Given the description of an element on the screen output the (x, y) to click on. 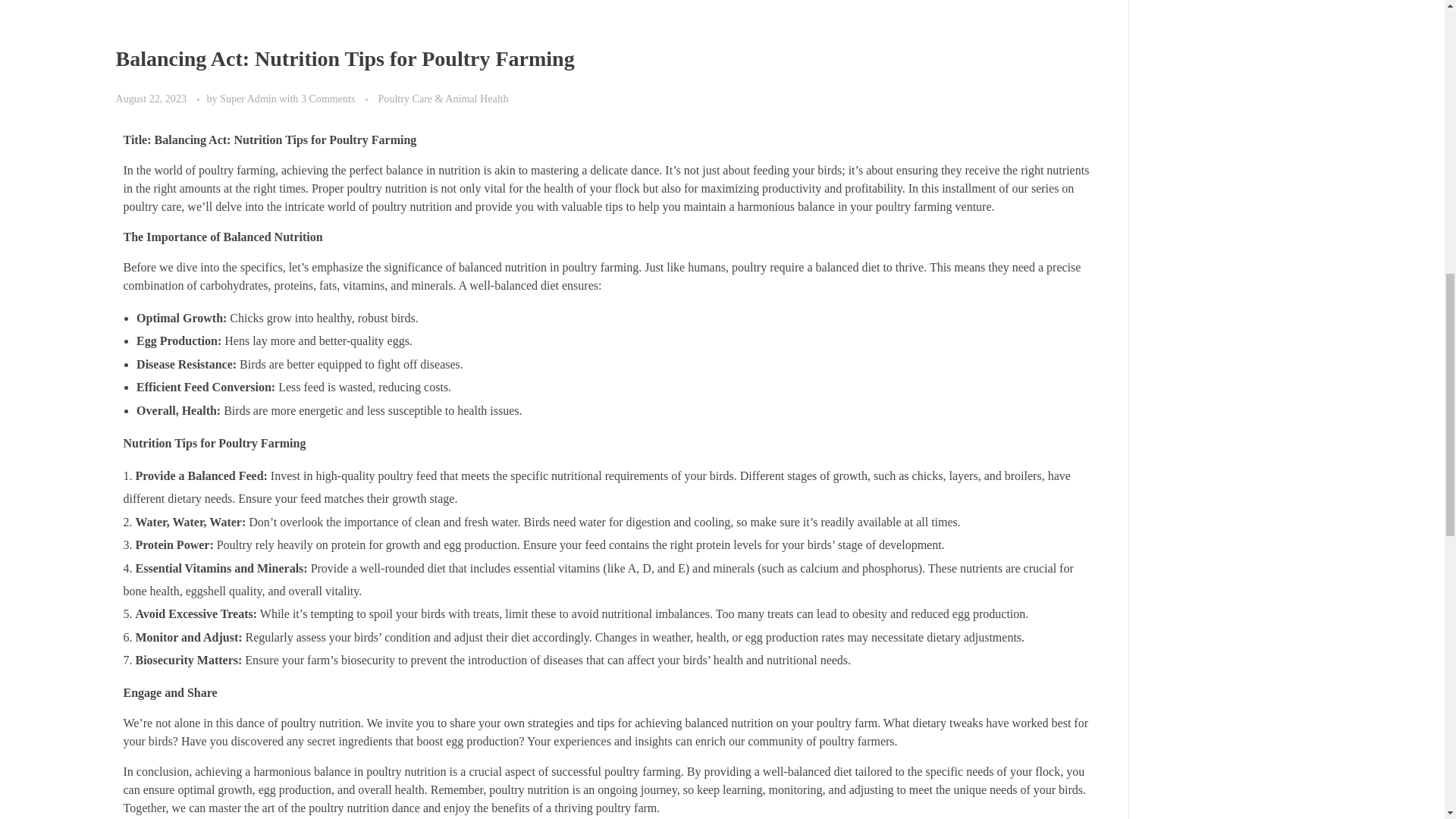
3 Comments (328, 98)
Balancing Act: Nutrition Tips for Poultry Farming (344, 58)
August 22, 2023 (152, 98)
Super Admin (249, 98)
View all posts by Super Admin (249, 98)
